Given the description of an element on the screen output the (x, y) to click on. 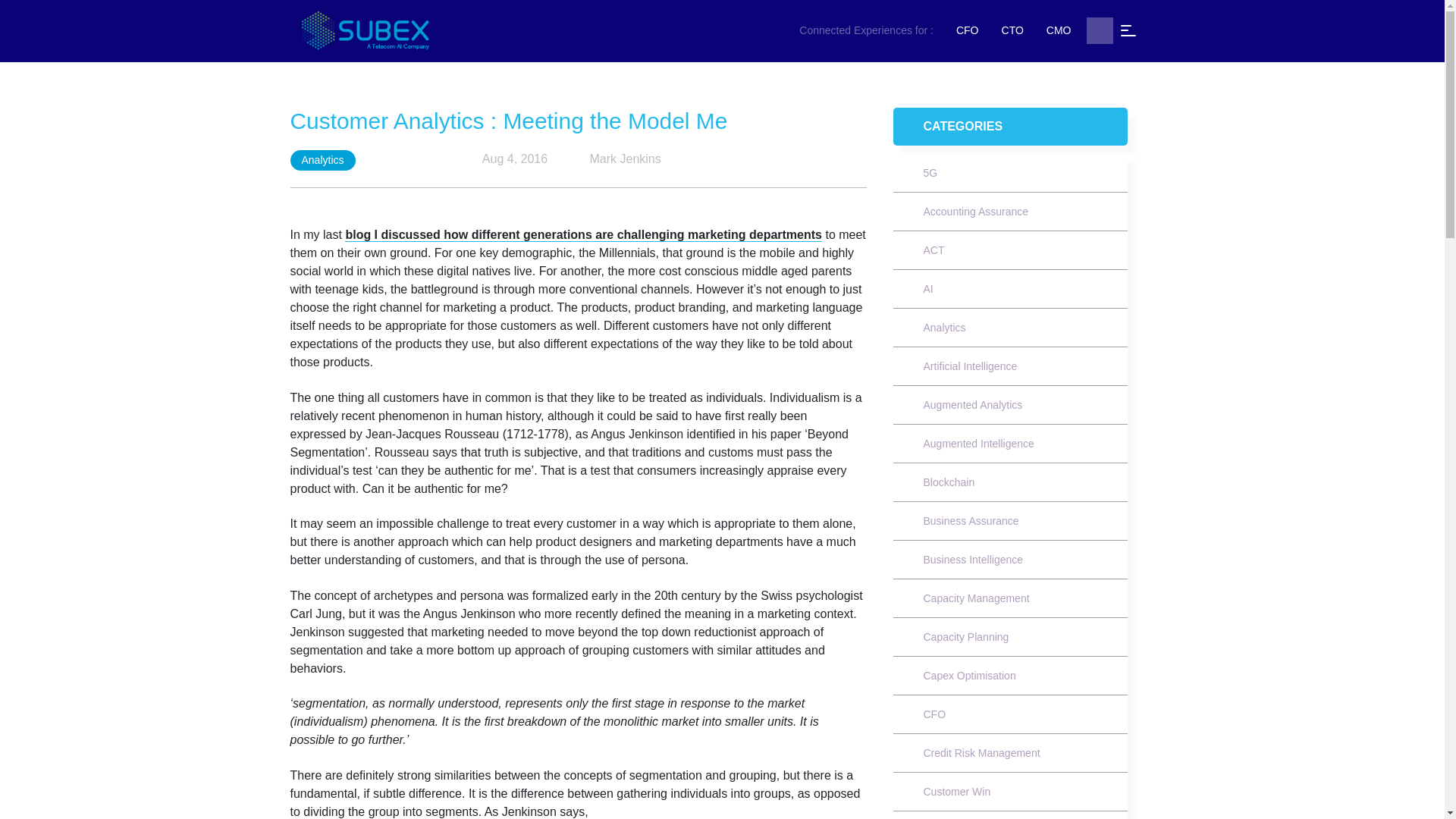
Credit Risk Management (981, 752)
Blockchain (949, 481)
Rechercher (1099, 30)
Capacity Planning (966, 636)
Augmented Intelligence (978, 443)
Capacity Management (976, 598)
ACT (934, 250)
5G (930, 173)
CTO (1012, 30)
